Given the description of an element on the screen output the (x, y) to click on. 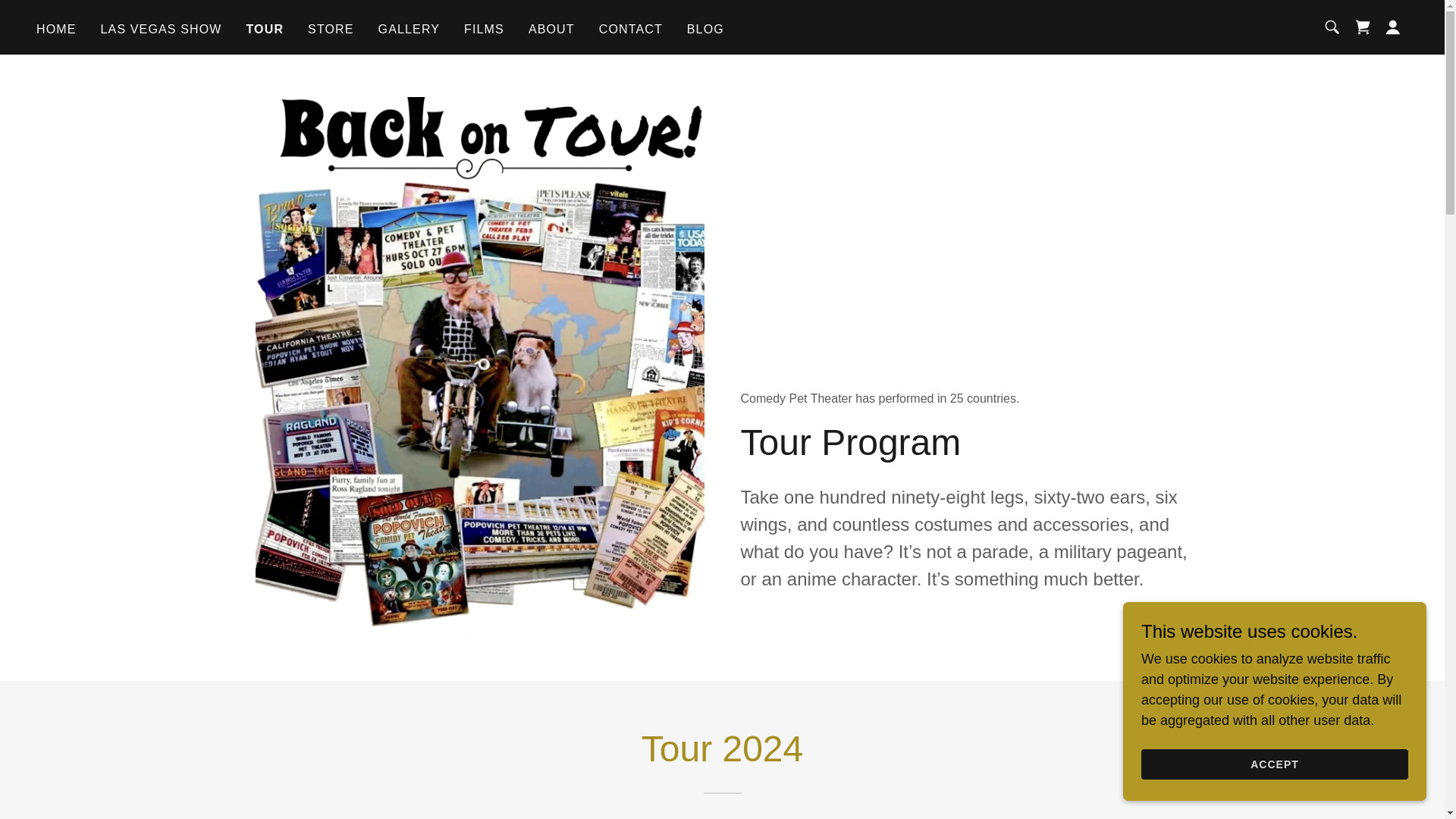
STORE (330, 28)
CONTACT (630, 28)
TOUR (264, 28)
FILMS (484, 28)
ABOUT (551, 28)
GALLERY (409, 28)
HOME (56, 28)
BLOG (705, 28)
LAS VEGAS SHOW (161, 28)
